Given the description of an element on the screen output the (x, y) to click on. 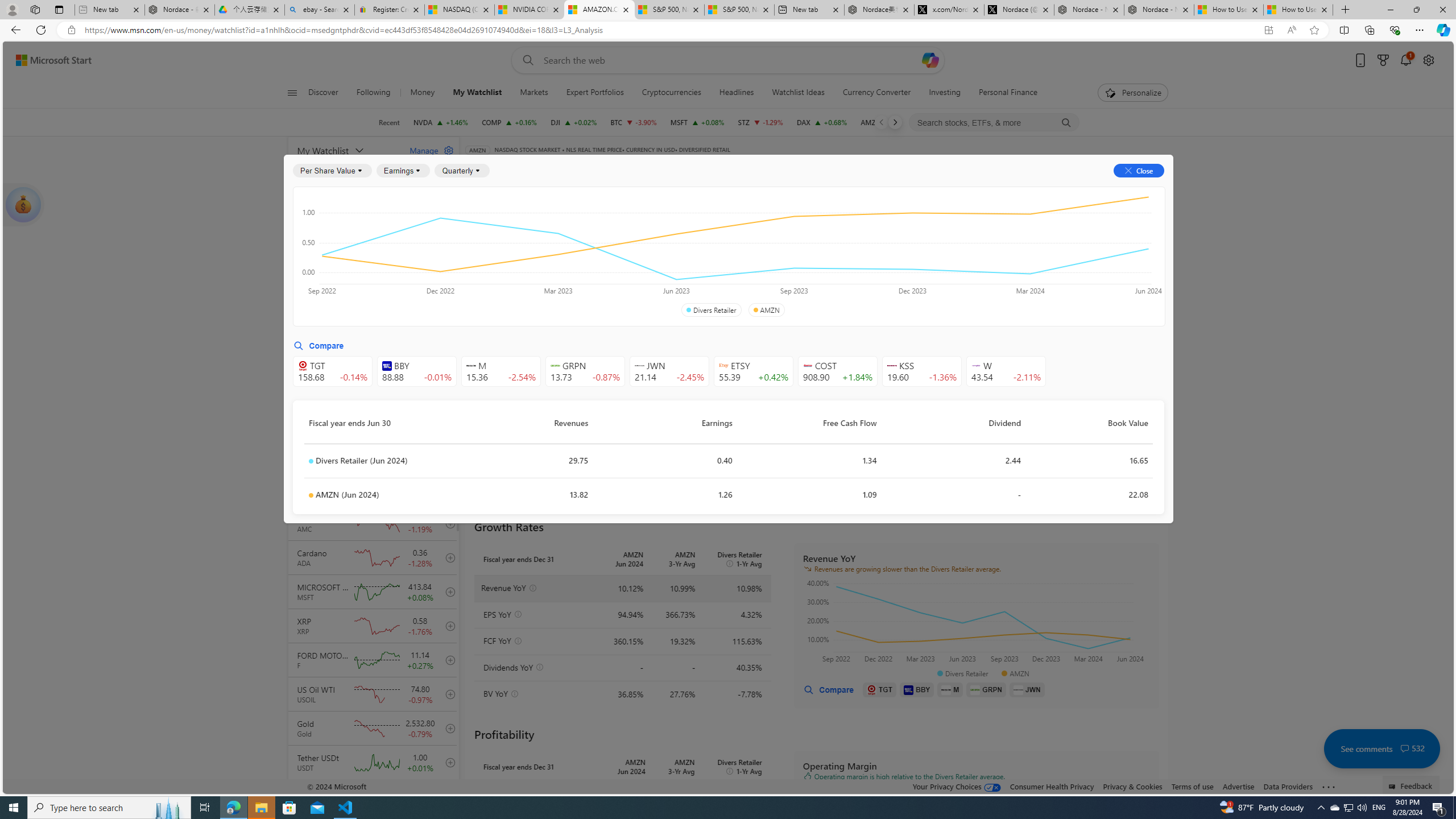
Expert Portfolios (595, 92)
Data Providers (1288, 785)
Leverage & Liquidity (782, 253)
Copilot (Ctrl+Shift+.) (1442, 29)
Discover (327, 92)
Your Privacy Choices (956, 785)
My Watchlist (477, 92)
Class: imagIcon-DS-EntryPoint1-1 (1018, 689)
Cryptocurrencies (670, 92)
ebay - Search (319, 9)
How to Use a Monitor With Your Closed Laptop (1297, 9)
Money (422, 92)
Data Providers (1288, 786)
